Given the description of an element on the screen output the (x, y) to click on. 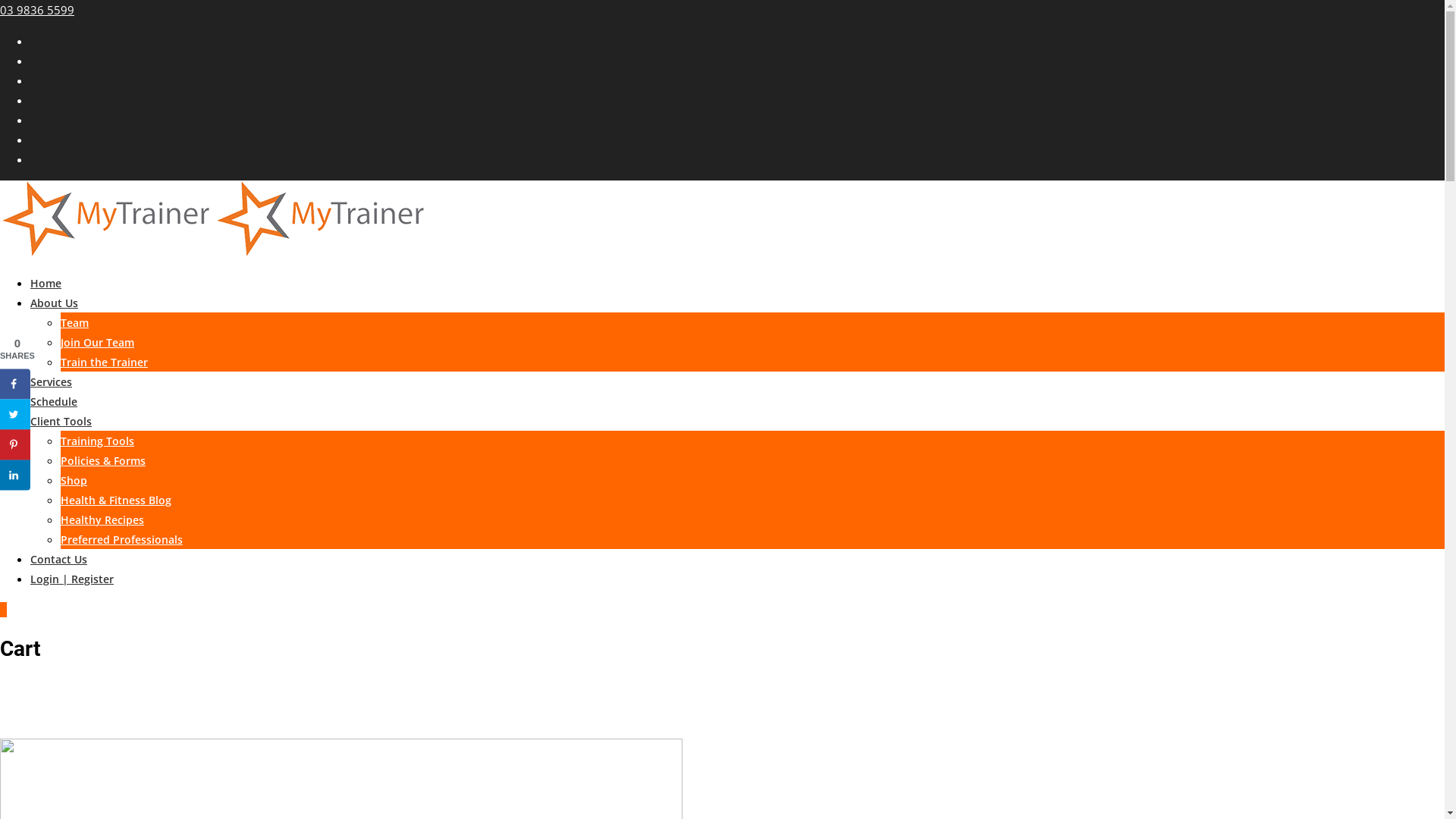
Policies & Forms Element type: text (102, 460)
Shop Element type: text (73, 480)
Services Element type: text (51, 381)
Share on Twitter Element type: hover (15, 413)
Train the Trainer Element type: text (103, 361)
Schedule Element type: text (53, 401)
03 9836 5599 Element type: text (37, 9)
Contact Us Element type: text (58, 559)
Preferred Professionals Element type: text (121, 539)
Health & Fitness Blog Element type: text (115, 499)
Training Tools Element type: text (97, 440)
Join Our Team Element type: text (97, 342)
0 Element type: text (3, 609)
About Us Element type: text (54, 302)
Share on LinkedIn Element type: hover (15, 474)
Save to Pinterest Element type: hover (15, 444)
Share on Facebook Element type: hover (15, 383)
Home Element type: text (45, 283)
Team Element type: text (74, 322)
Client Tools Element type: text (60, 421)
Login | Register Element type: text (71, 578)
Healthy Recipes Element type: text (102, 519)
